Given the description of an element on the screen output the (x, y) to click on. 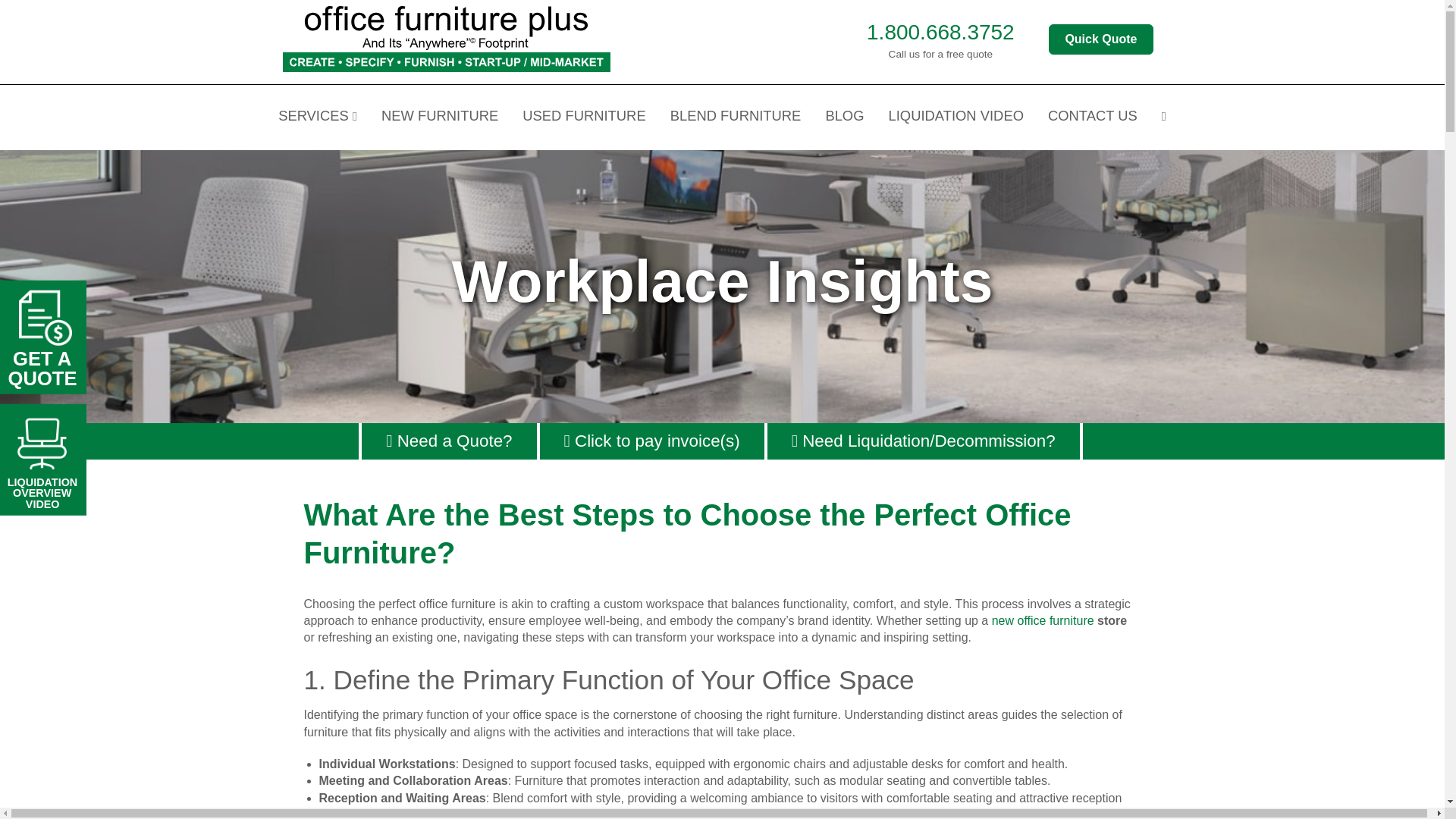
Quick Quote (1100, 39)
BLEND FURNITURE (735, 117)
LIQUIDATION VIDEO (955, 117)
1.800.668.3752 (940, 31)
CONTACT US (1092, 117)
USED FURNITURE (583, 117)
NEW FURNITURE (439, 117)
SERVICES (317, 117)
